Given the description of an element on the screen output the (x, y) to click on. 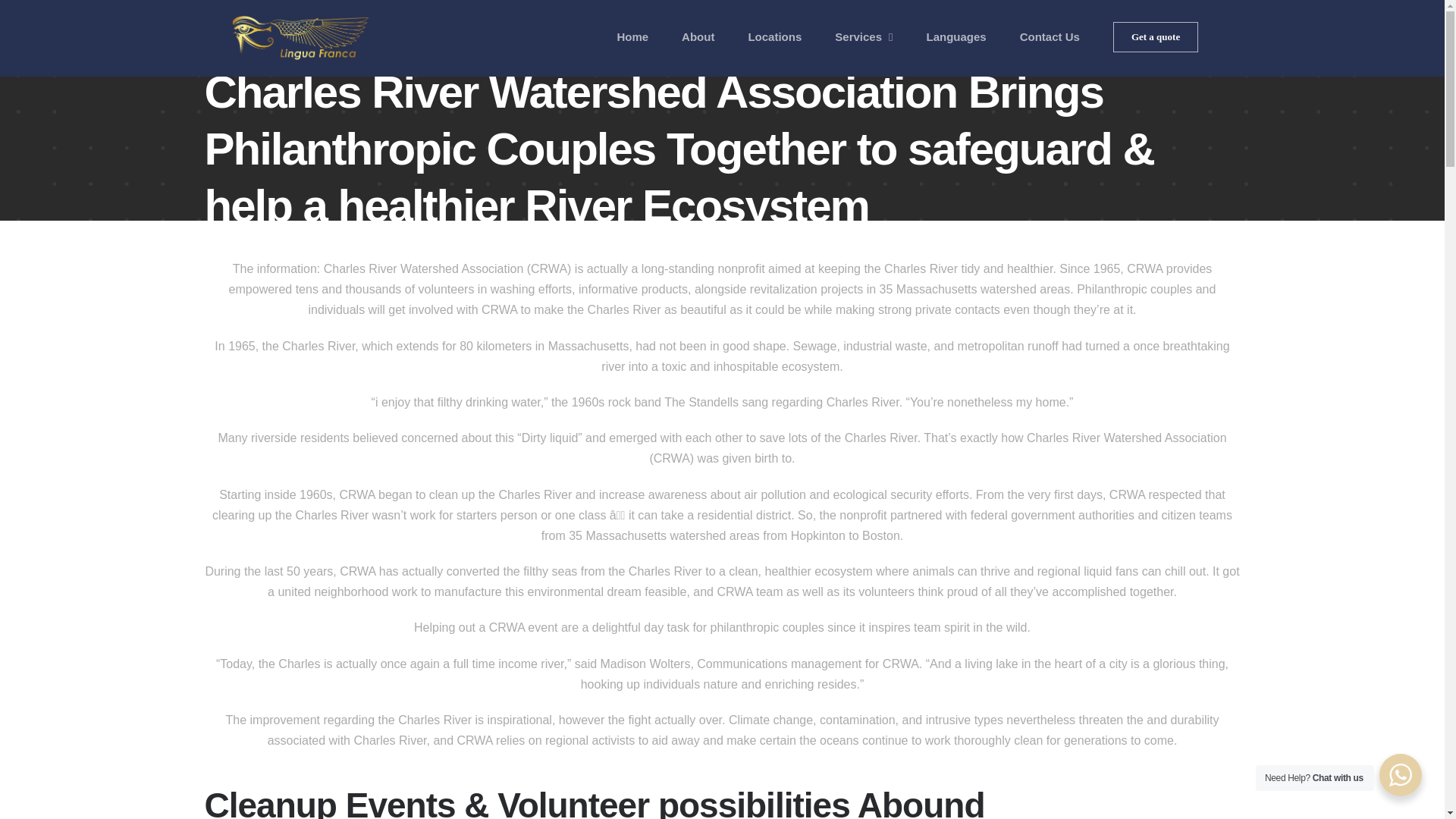
Get a quote (1155, 36)
